Given the description of an element on the screen output the (x, y) to click on. 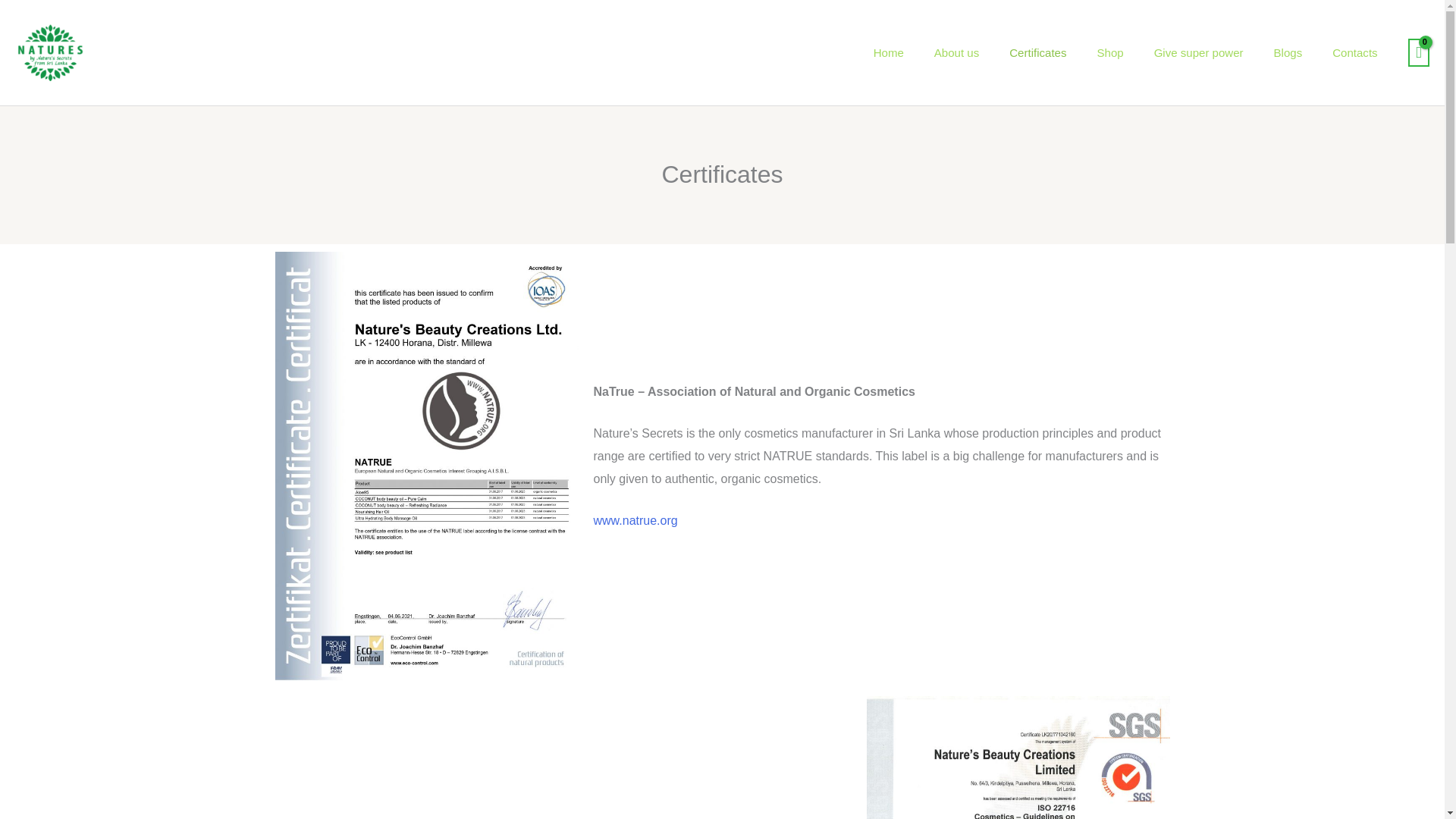
Home (888, 52)
Give super power (1198, 52)
Blogs (1288, 52)
About us (956, 52)
Certificates (1037, 52)
Contacts (1354, 52)
Shop (1109, 52)
www.natrue.org (634, 520)
